Given the description of an element on the screen output the (x, y) to click on. 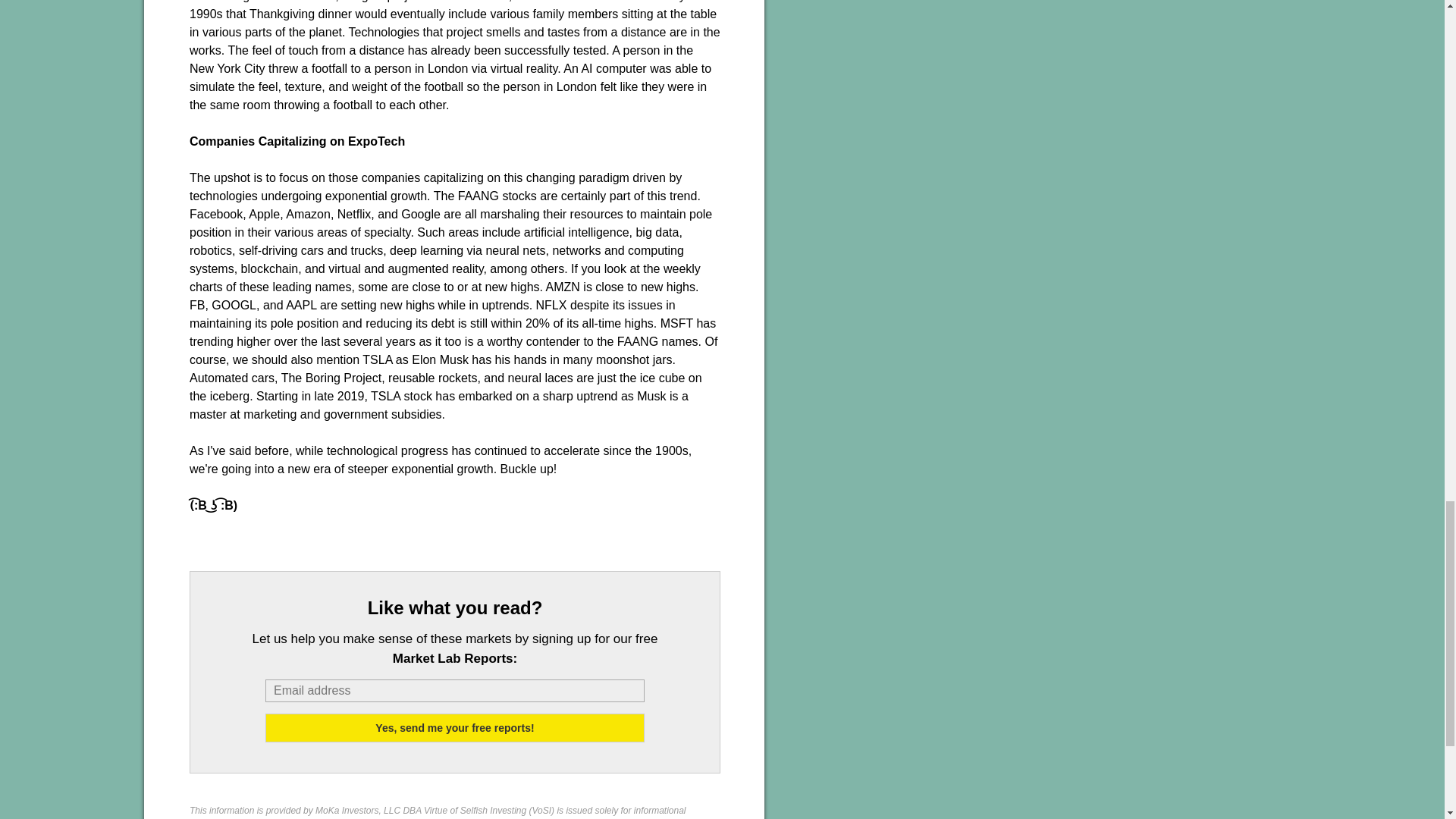
Yes, send me your free reports! (454, 727)
Yes, send me your free reports! (454, 727)
